Given the description of an element on the screen output the (x, y) to click on. 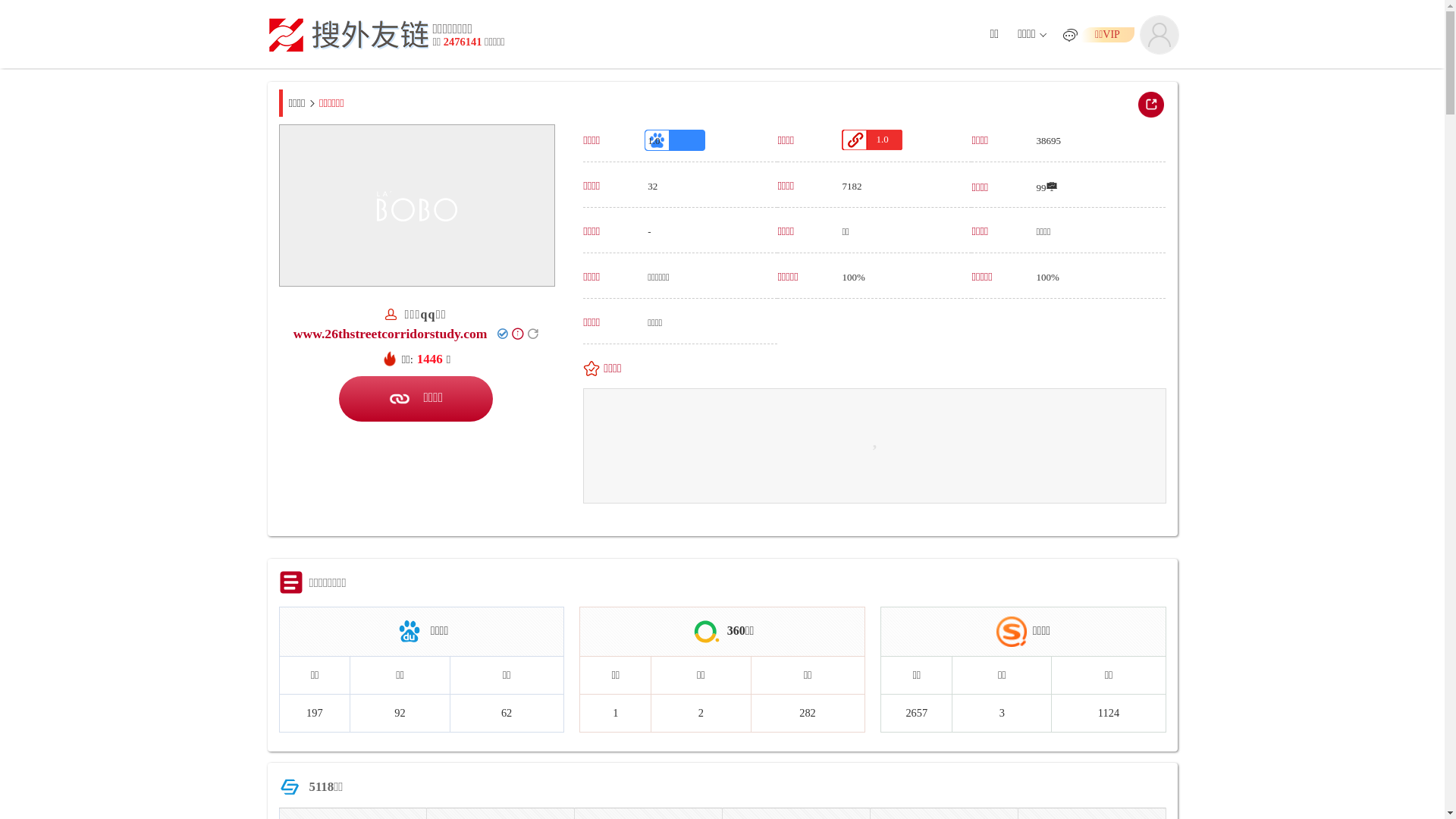
www.26thstreetcorridorstudy.com Element type: text (390, 333)
